Given the description of an element on the screen output the (x, y) to click on. 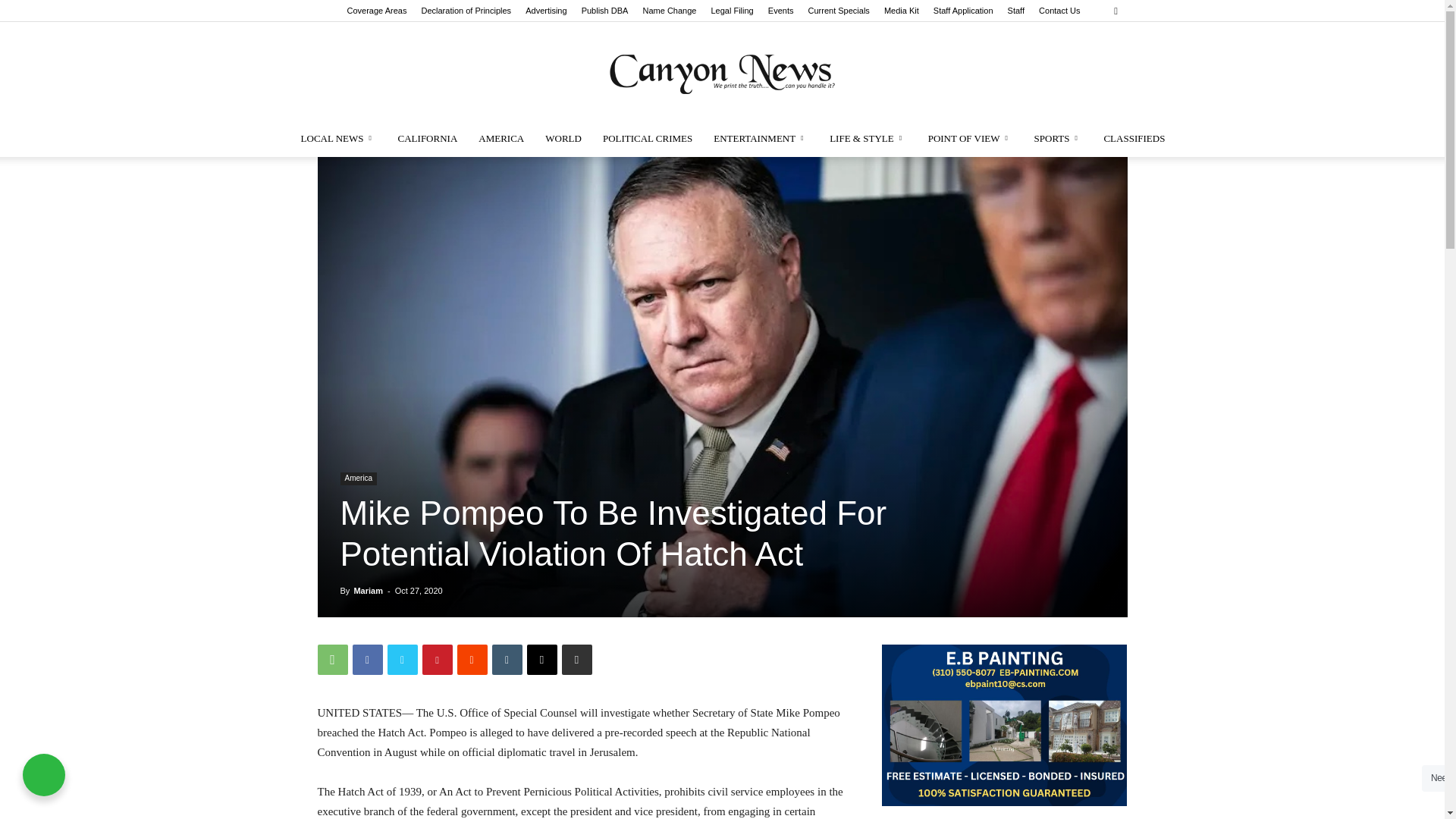
Facebook (366, 659)
Twitter (401, 659)
Tumblr (506, 659)
Pinterest (436, 659)
We print the truth... can you handle it? (721, 71)
Print (575, 659)
Email (540, 659)
ReddIt (471, 659)
WhatsApp (332, 659)
